Given the description of an element on the screen output the (x, y) to click on. 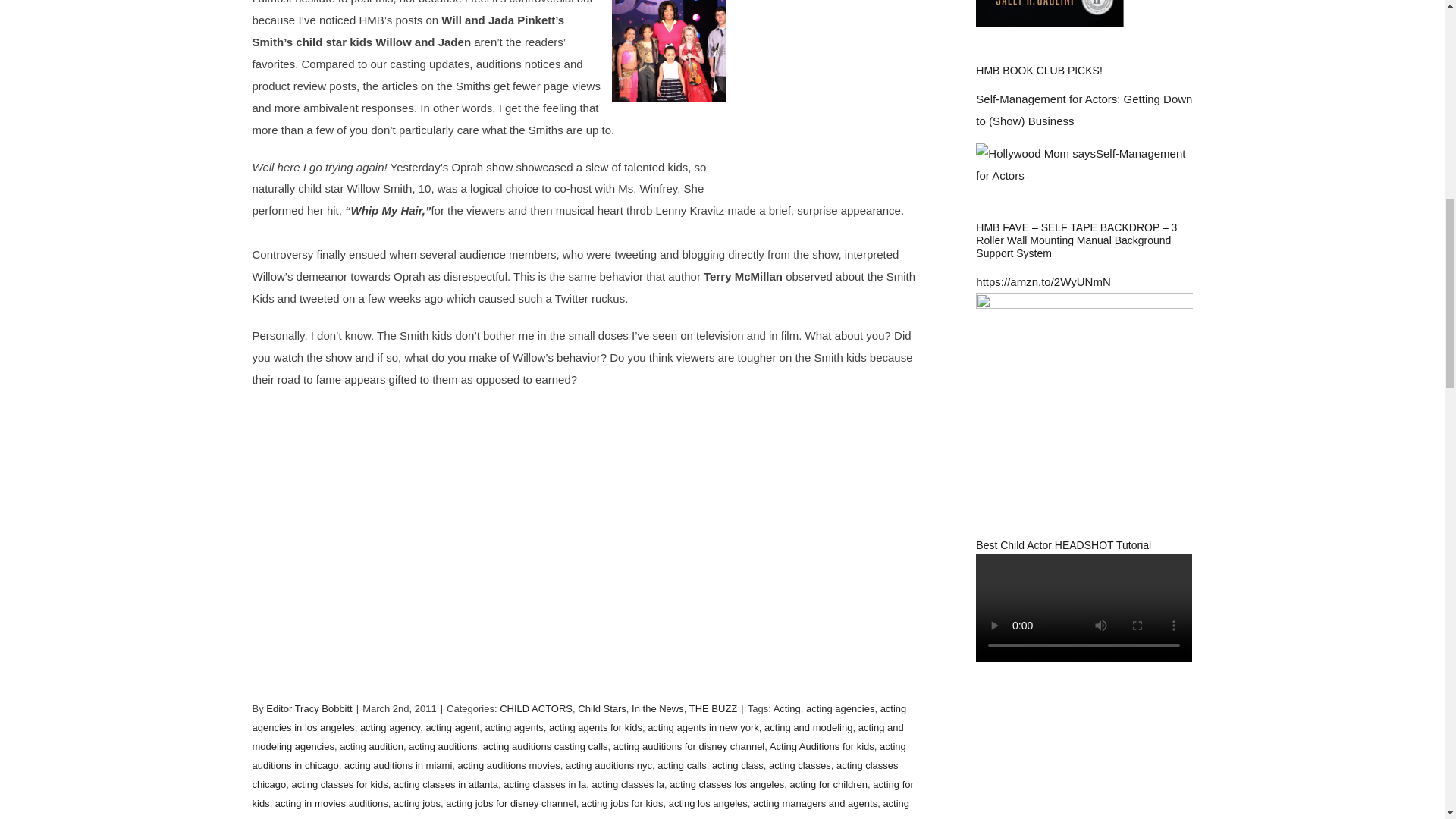
Picture 27 (668, 50)
Posts by Editor Tracy Bobbitt (309, 708)
Advertisement (820, 88)
